Given the description of an element on the screen output the (x, y) to click on. 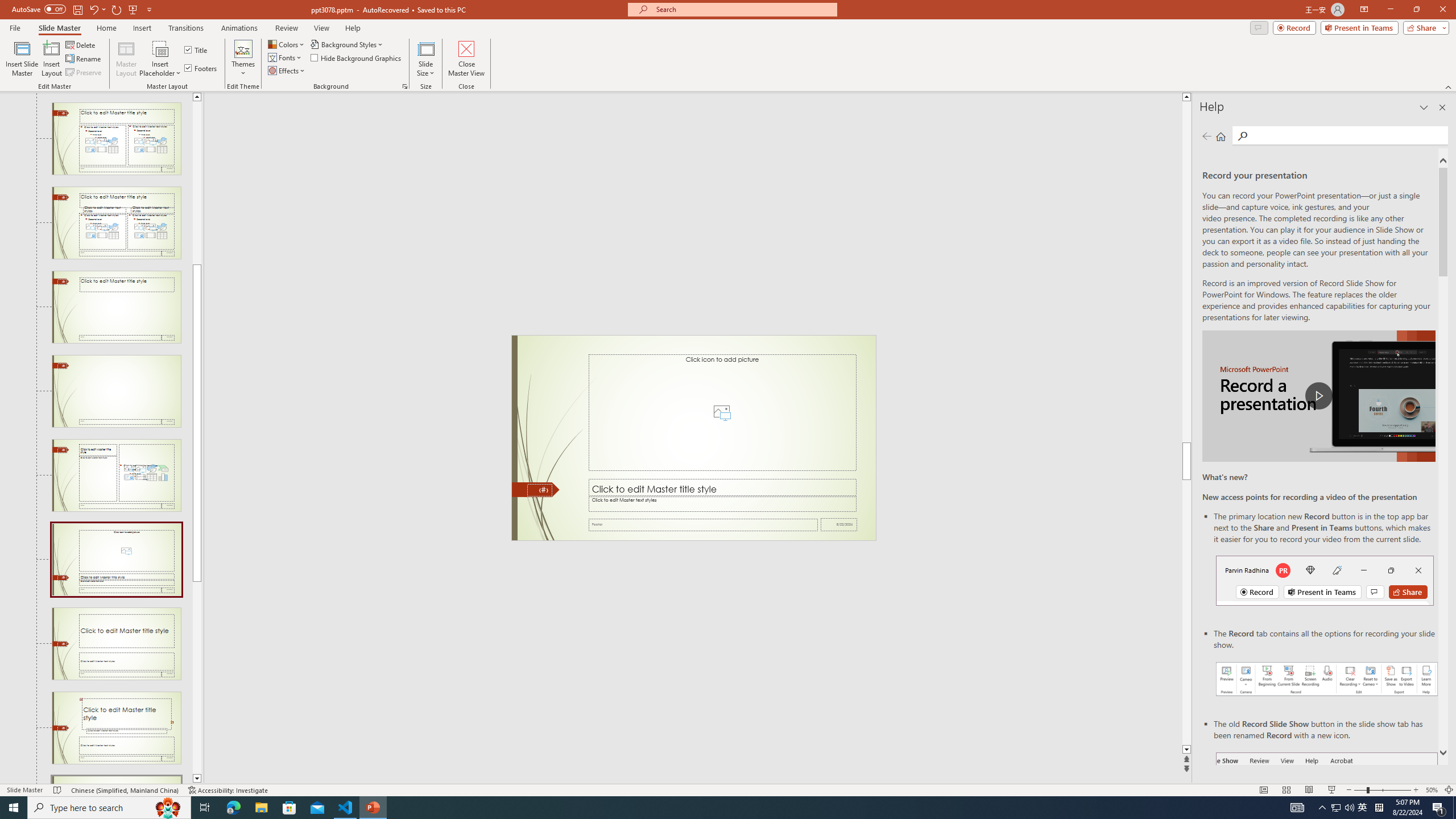
Date (839, 524)
Slide Title Only Layout: used by no slides (116, 307)
Record button in top bar (1324, 580)
Close Master View (466, 58)
Slide Name Card Layout: used by no slides (116, 779)
Picture Placeholder 2 (722, 412)
Slide Master (59, 28)
Slide Picture with Caption Layout: used by no slides (116, 559)
Class: MsoCommandBar (728, 789)
Rename (84, 58)
